Given the description of an element on the screen output the (x, y) to click on. 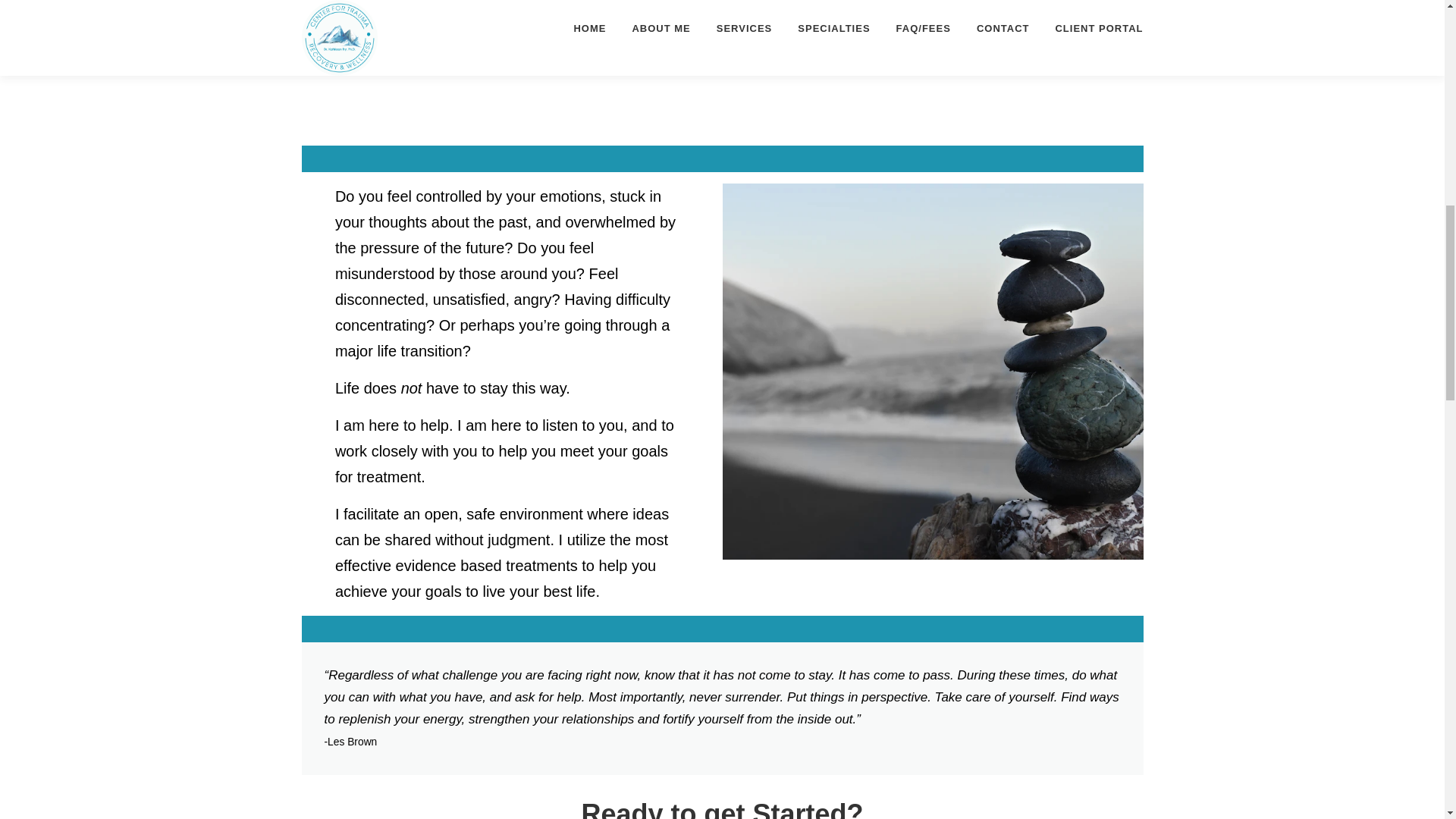
PsyPact (913, 40)
